Given the description of an element on the screen output the (x, y) to click on. 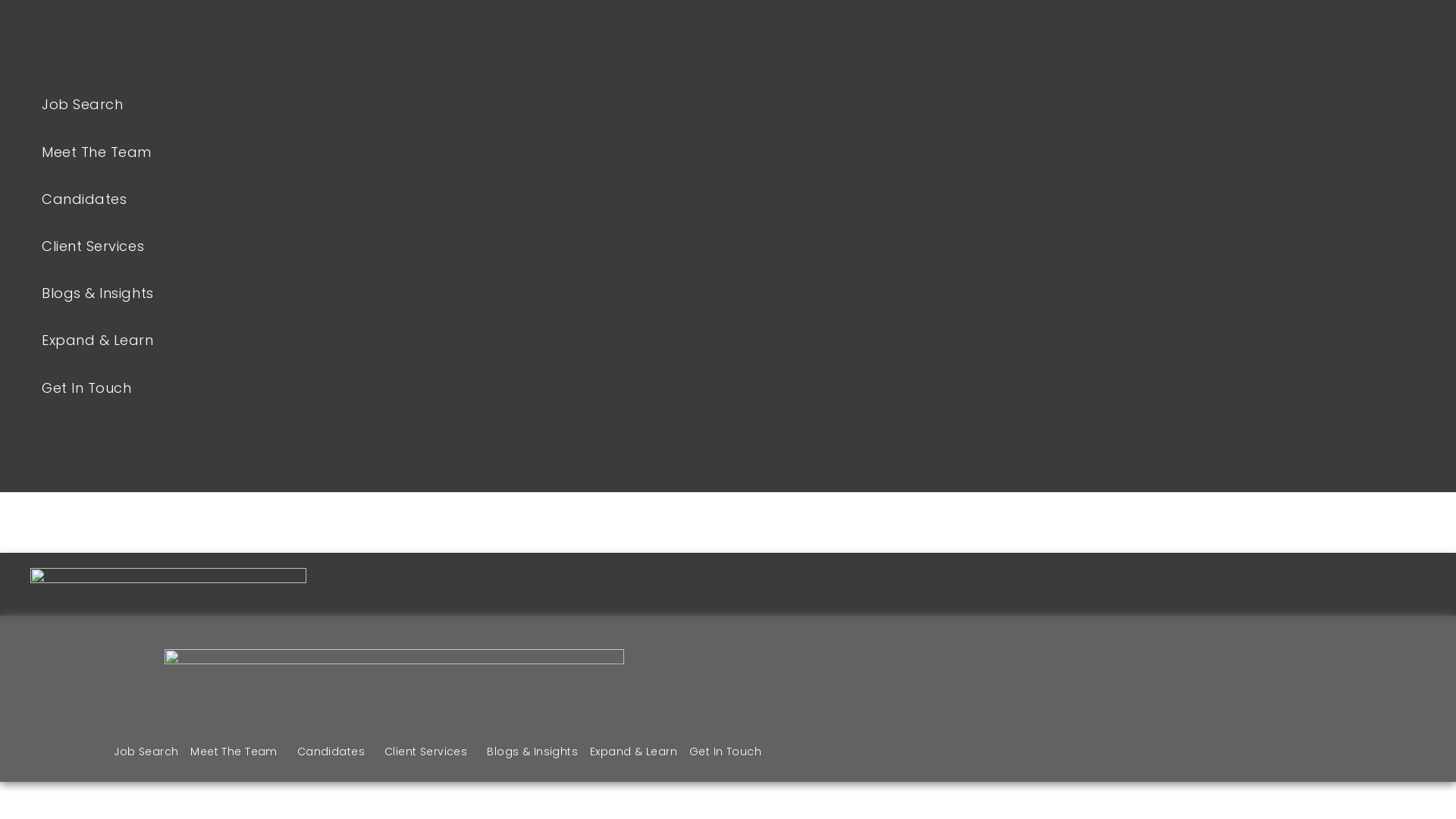
Blogs & Insights Element type: text (393, 292)
Job Search Element type: text (145, 751)
Meet The Team Element type: text (393, 151)
Candidates Element type: text (334, 751)
Client Services Element type: text (393, 245)
Expand & Learn Element type: text (633, 751)
Client Services Element type: text (429, 751)
Expand & Learn Element type: text (393, 340)
Get In Touch Element type: text (393, 387)
Blogs & Insights Element type: text (531, 751)
Job Search Element type: text (393, 104)
Get In Touch Element type: text (725, 751)
Candidates Element type: text (393, 198)
Meet The Team Element type: text (237, 751)
